Given the description of an element on the screen output the (x, y) to click on. 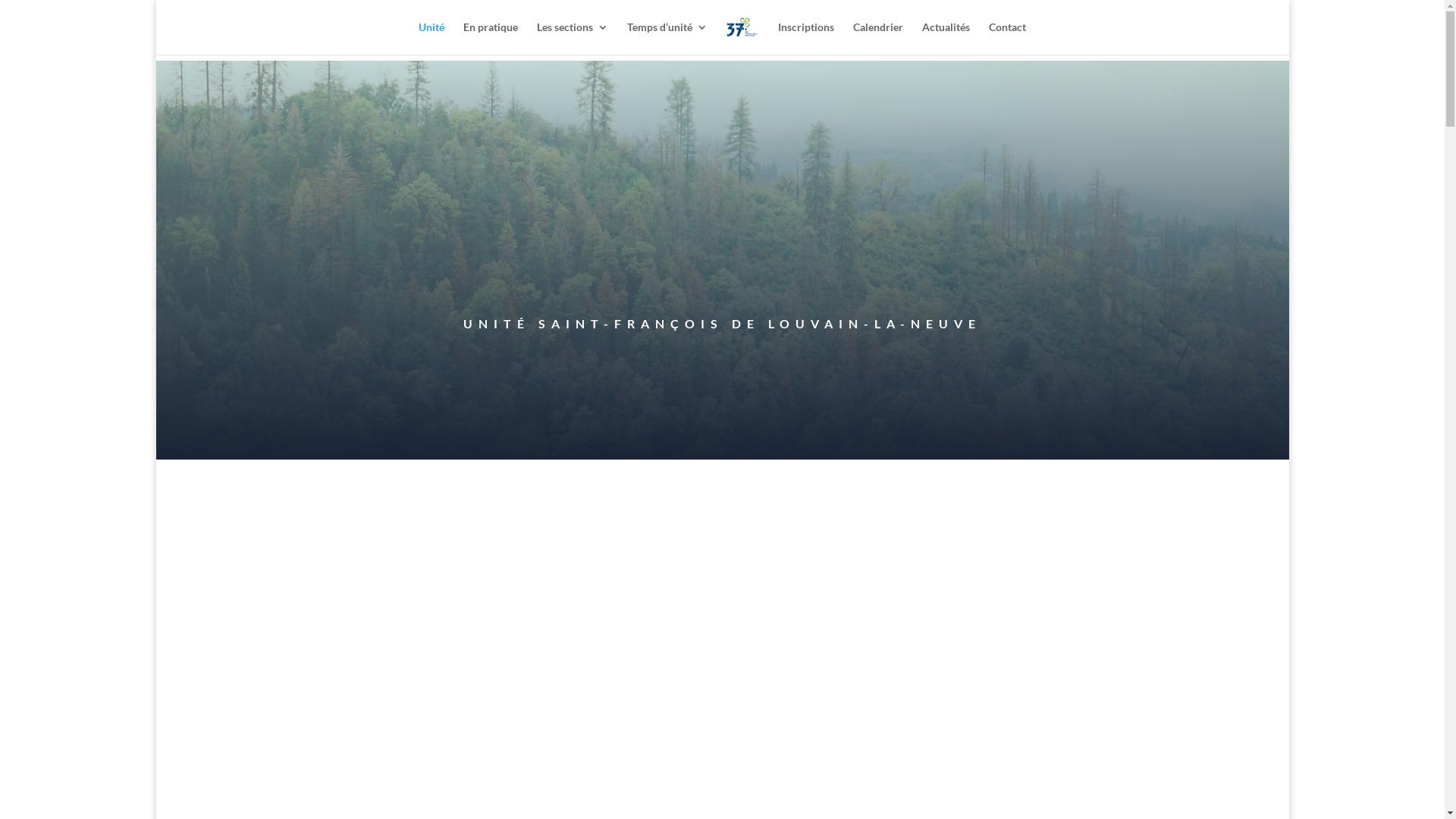
Contact Element type: text (1007, 37)
Inscriptions Element type: text (806, 37)
En pratique Element type: text (490, 37)
Calendrier Element type: text (878, 37)
Les sections Element type: text (572, 37)
